Given the description of an element on the screen output the (x, y) to click on. 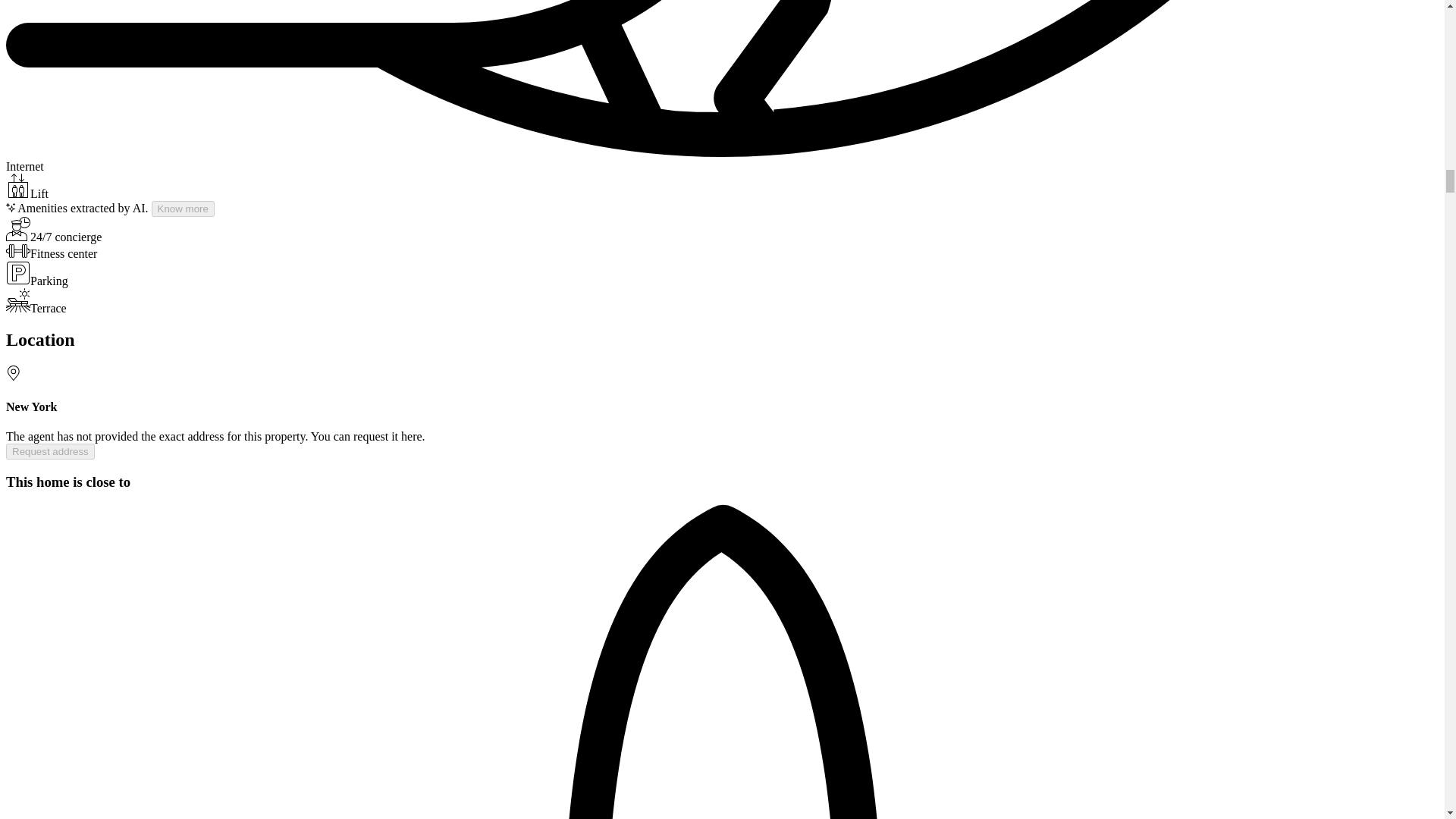
Know more (182, 208)
Request address (49, 451)
